Given the description of an element on the screen output the (x, y) to click on. 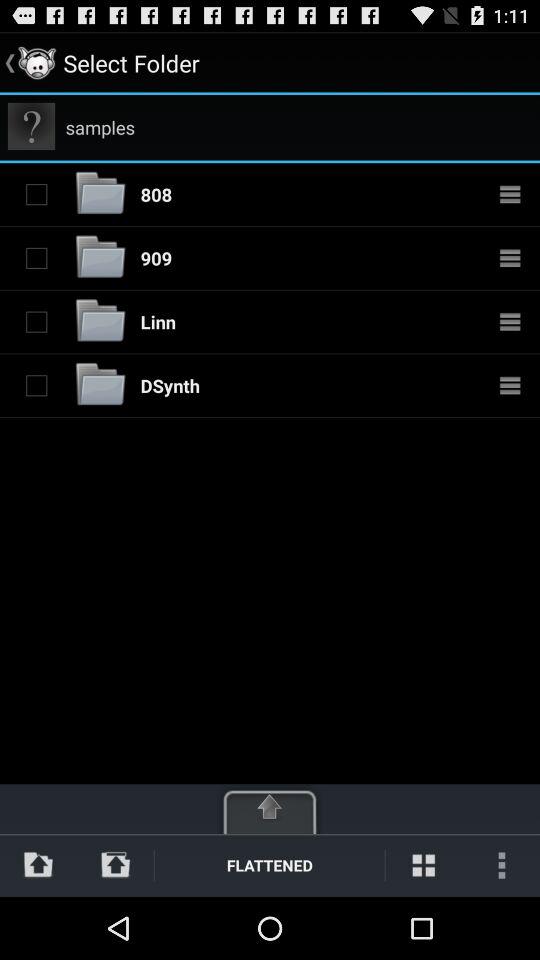
open menu (269, 807)
